Given the description of an element on the screen output the (x, y) to click on. 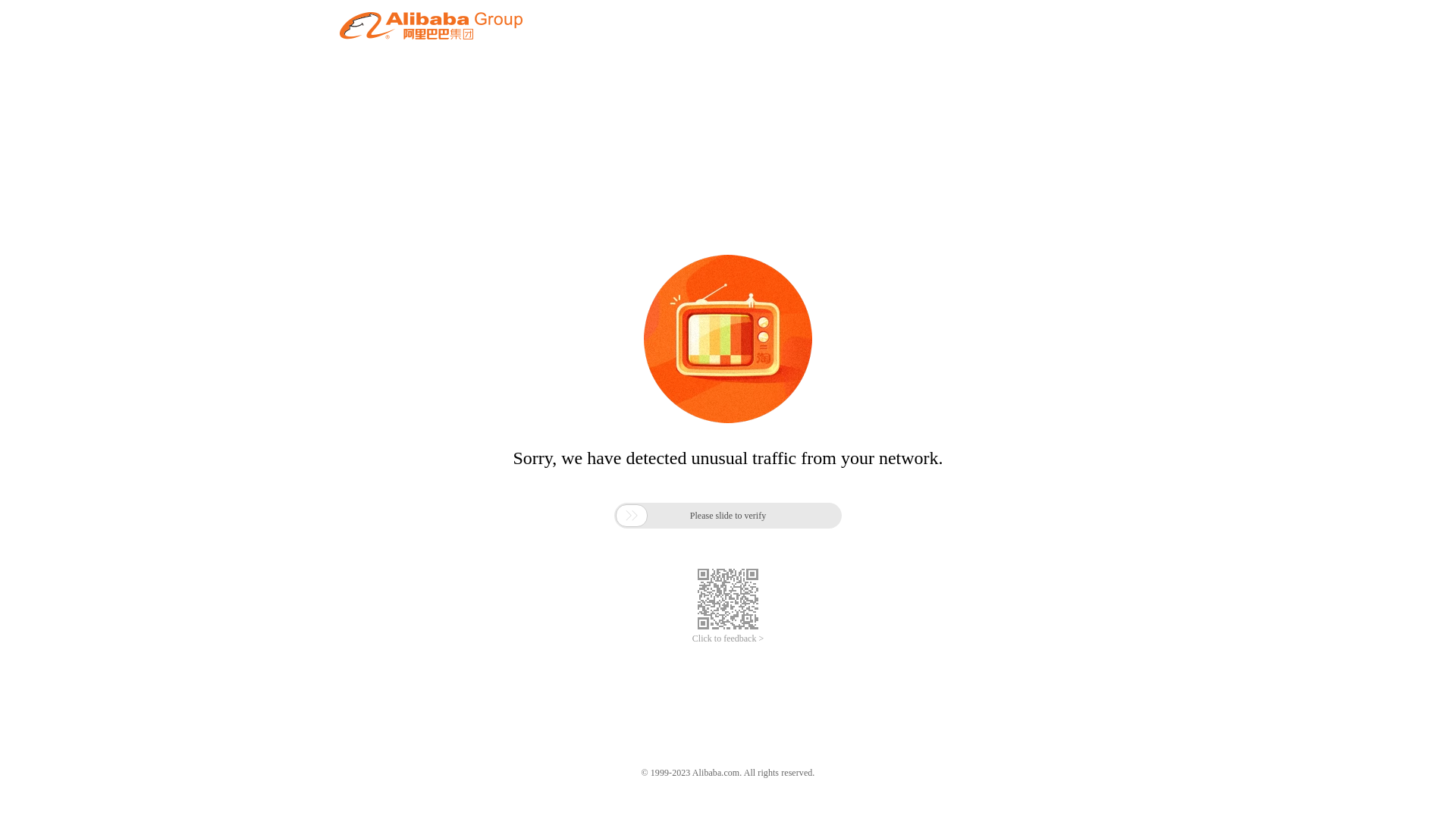
Click to feedback > Element type: text (727, 638)
